Given the description of an element on the screen output the (x, y) to click on. 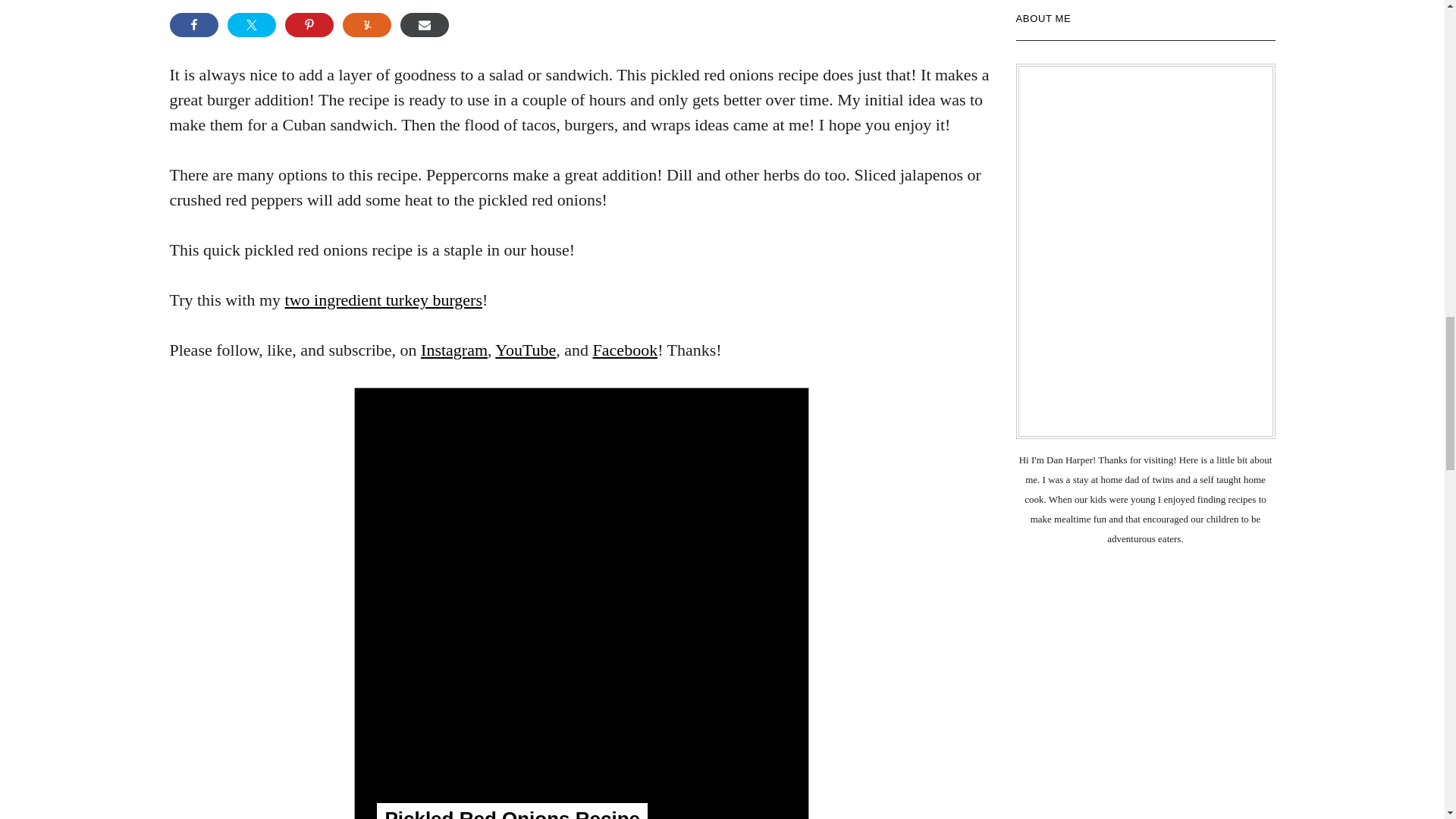
YouTube (525, 349)
Share on Yummly (366, 24)
Instagram (453, 349)
Facebook (625, 349)
two ingredient turkey burgers (383, 299)
Share on Twitter (251, 24)
Share on Pinterest (309, 24)
Share on Facebook (194, 24)
Share via Email (424, 24)
